Given the description of an element on the screen output the (x, y) to click on. 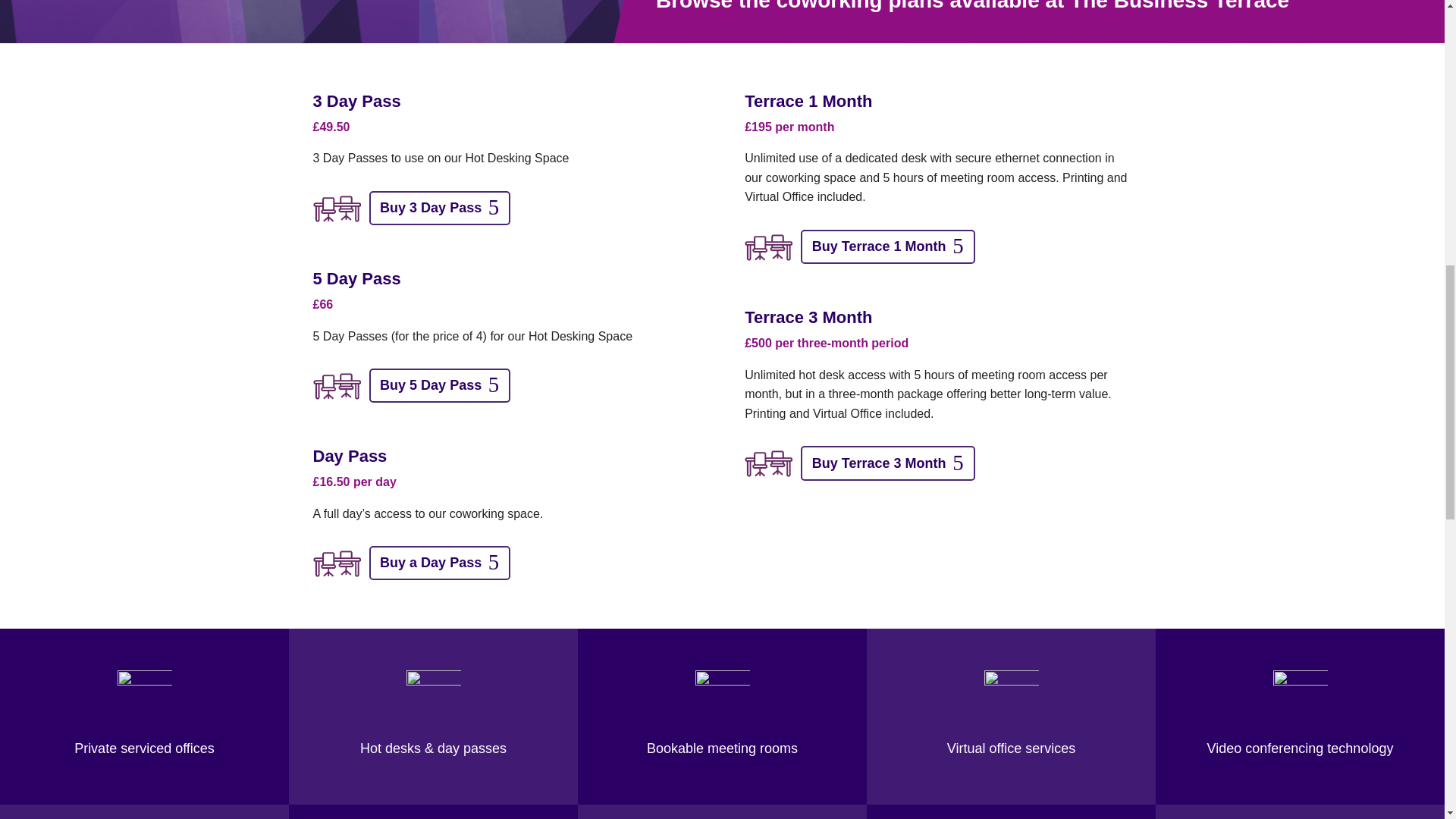
Buy Terrace 1 Month (887, 246)
Buy 3 Day Pass (439, 207)
icons-day-pass-offices (768, 247)
icons-day-pass-offices (336, 563)
Buy Terrace 3 Month (887, 462)
icons-day-pass-offices (336, 386)
Buy a Day Pass (439, 562)
icons-day-pass-offices (336, 208)
icons-day-pass-offices (768, 463)
Buy 5 Day Pass (439, 385)
